Given the description of an element on the screen output the (x, y) to click on. 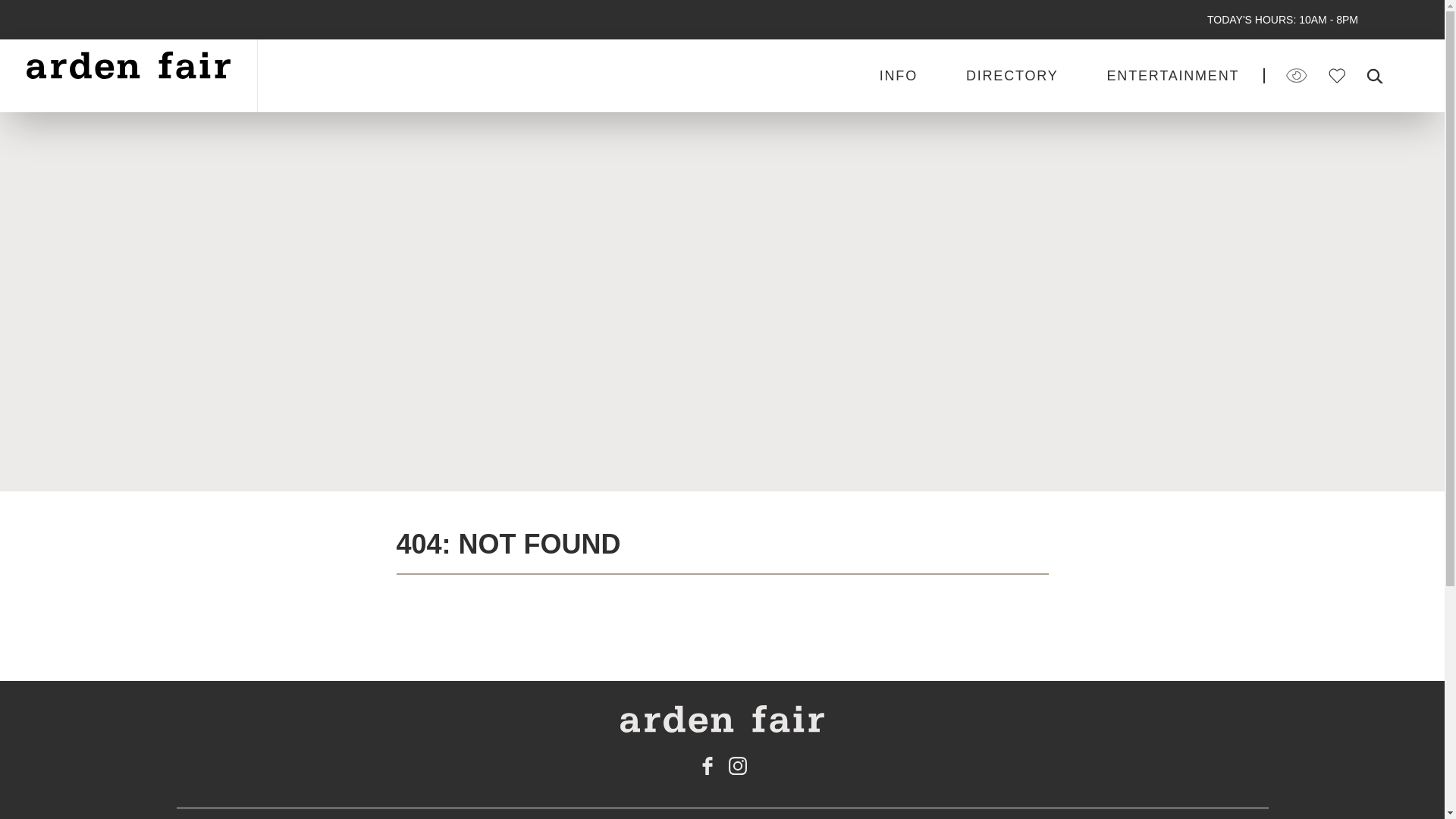
Instagram (736, 765)
TODAY'S HOURS: 10AM - 8PM (1282, 19)
Facebook (706, 765)
DIRECTORY (1012, 75)
ENTERTAINMENT (1173, 75)
